Given the description of an element on the screen output the (x, y) to click on. 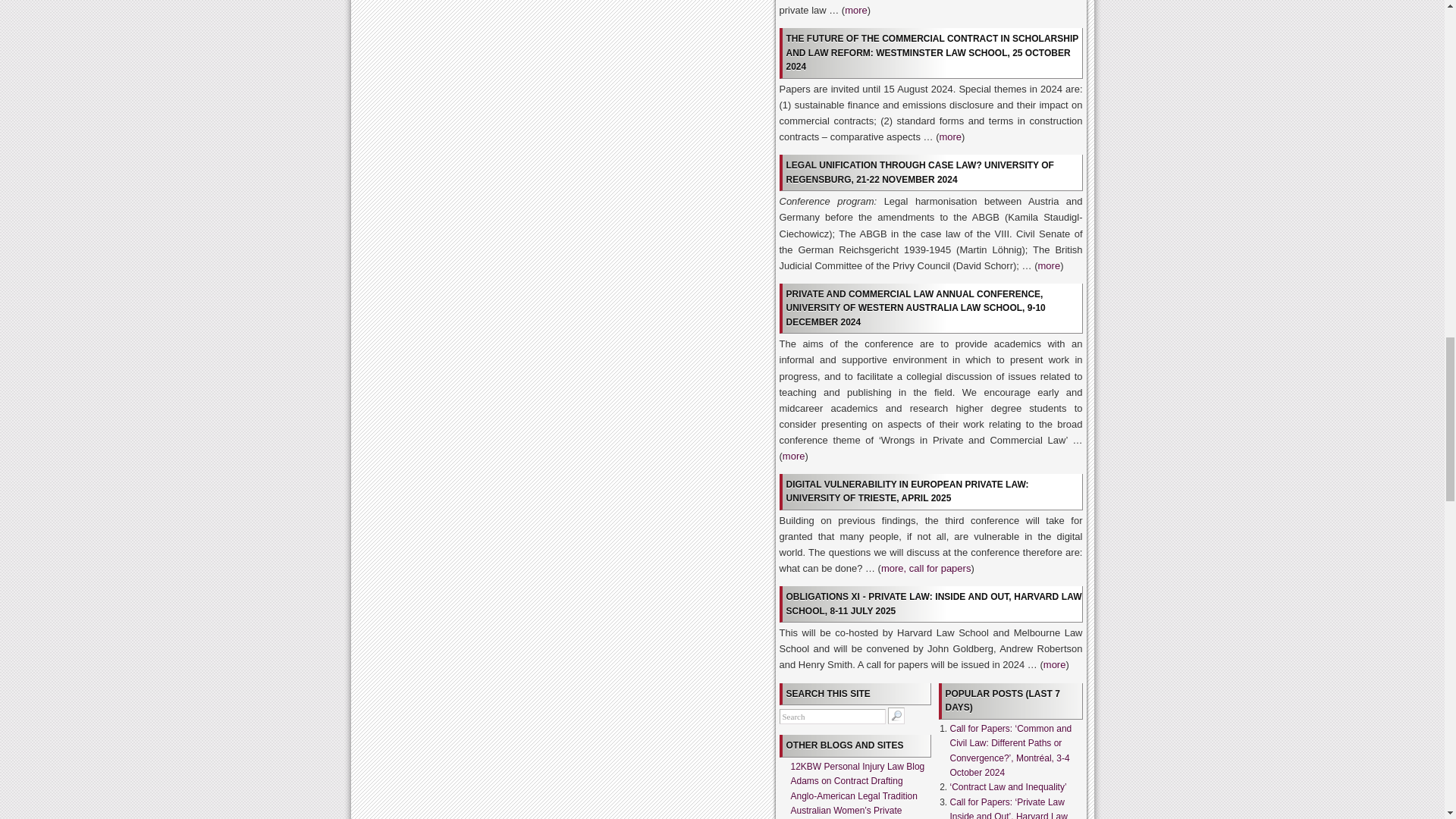
Search (831, 716)
